Given the description of an element on the screen output the (x, y) to click on. 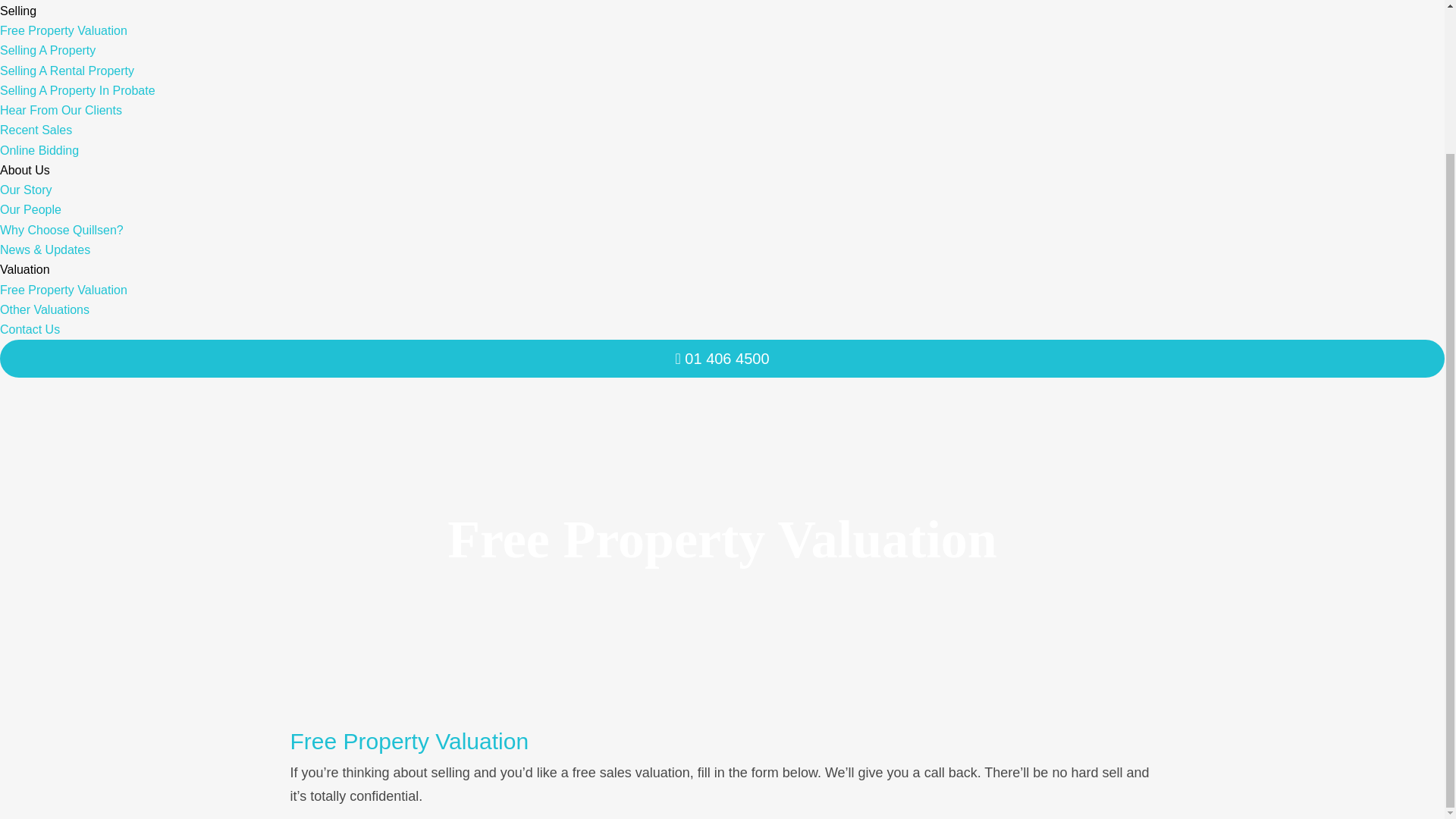
Our People (30, 209)
Our Story (25, 189)
Online Bidding (39, 150)
Recent Sales (35, 129)
Selling A Property (48, 50)
Selling A Rental Property (66, 70)
Selling A Property In Probate (77, 90)
Hear From Our Clients (61, 110)
Free Property Valuation (64, 30)
